Given the description of an element on the screen output the (x, y) to click on. 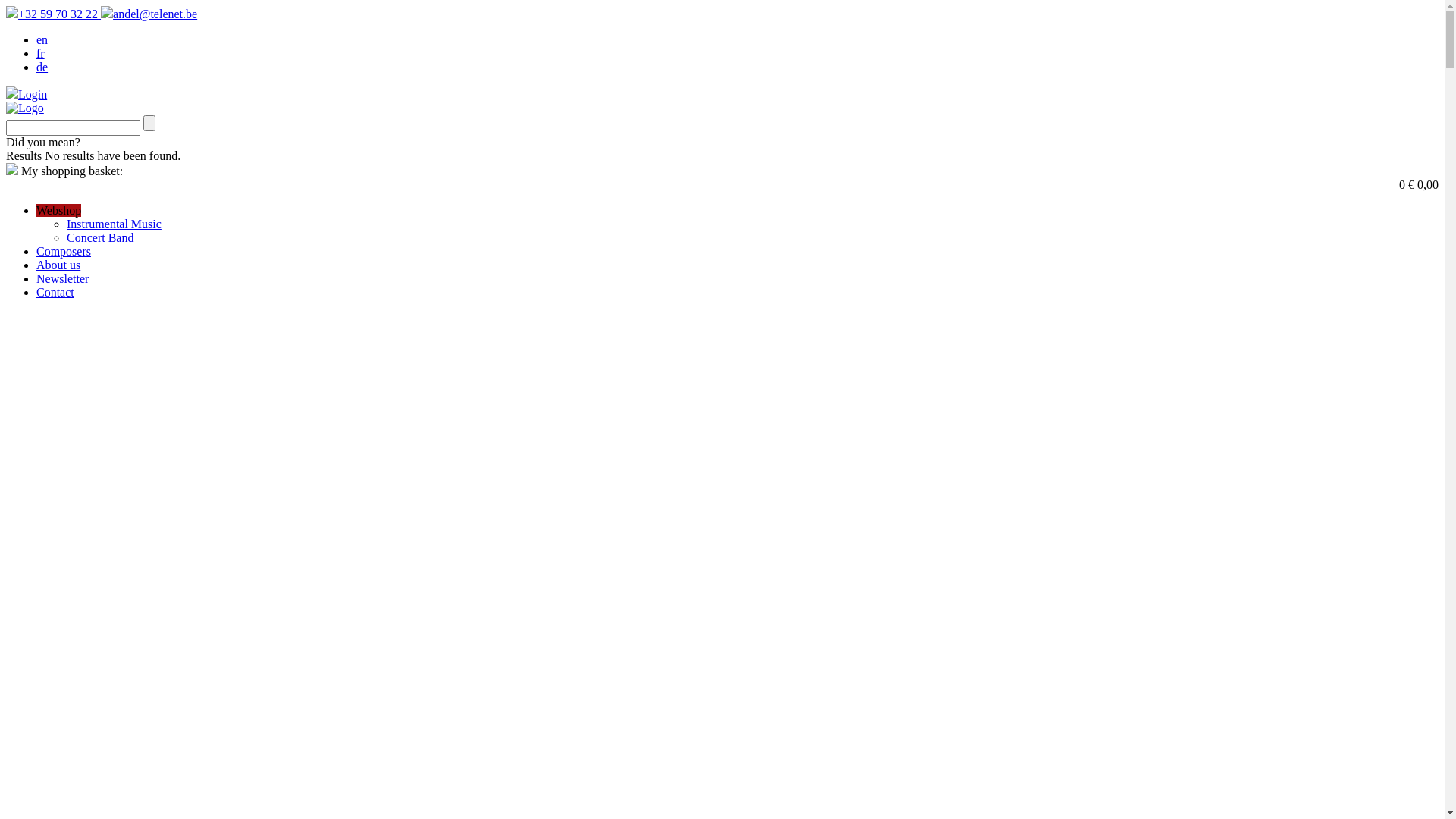
Composers Element type: text (63, 250)
Instrumental Music Element type: text (113, 223)
Concert Band Element type: text (99, 237)
Webshop Element type: text (58, 209)
fr Element type: text (40, 53)
en Element type: text (41, 39)
andel@telenet.be Element type: text (148, 13)
Newsletter Element type: text (62, 278)
de Element type: text (41, 66)
About us Element type: text (58, 264)
Login Element type: text (26, 93)
Contact Element type: text (55, 291)
+32 59 70 32 22 Element type: text (53, 13)
